Given the description of an element on the screen output the (x, y) to click on. 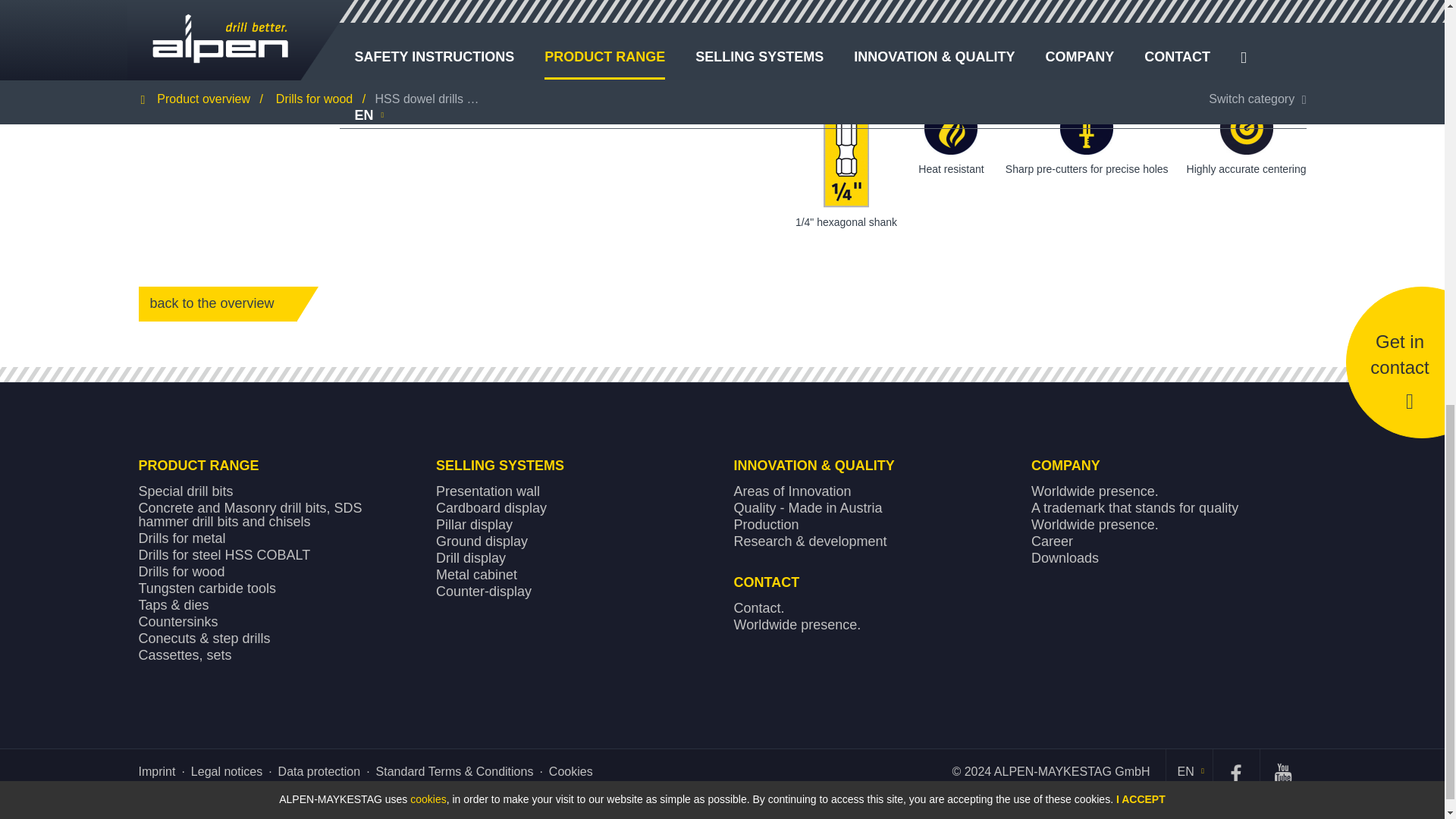
Heat resistant (950, 127)
Sharp pre-cutters for precise holes (1086, 127)
Highly accurate centering (1246, 127)
